Given the description of an element on the screen output the (x, y) to click on. 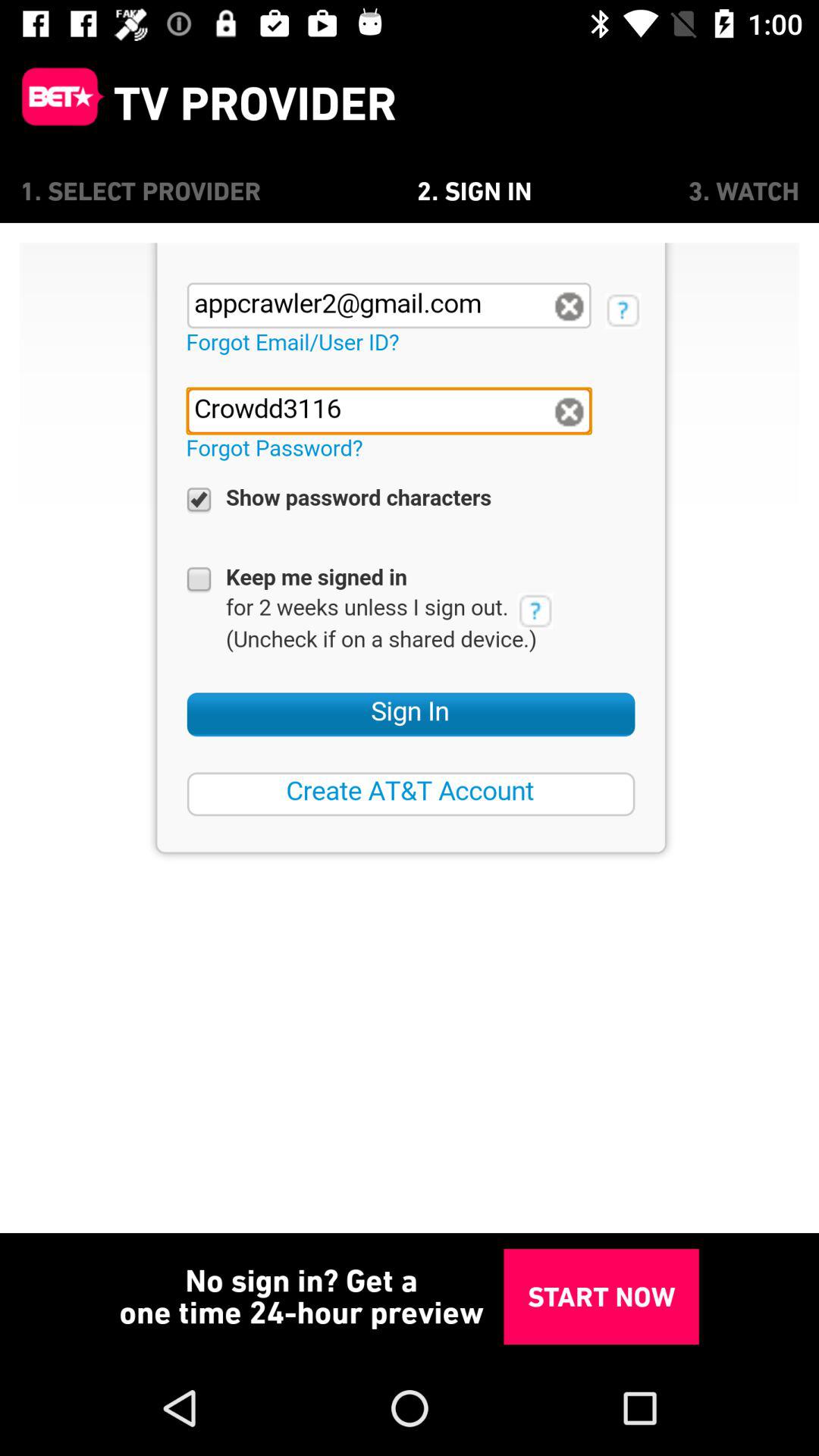
main menu page (56, 103)
